Given the description of an element on the screen output the (x, y) to click on. 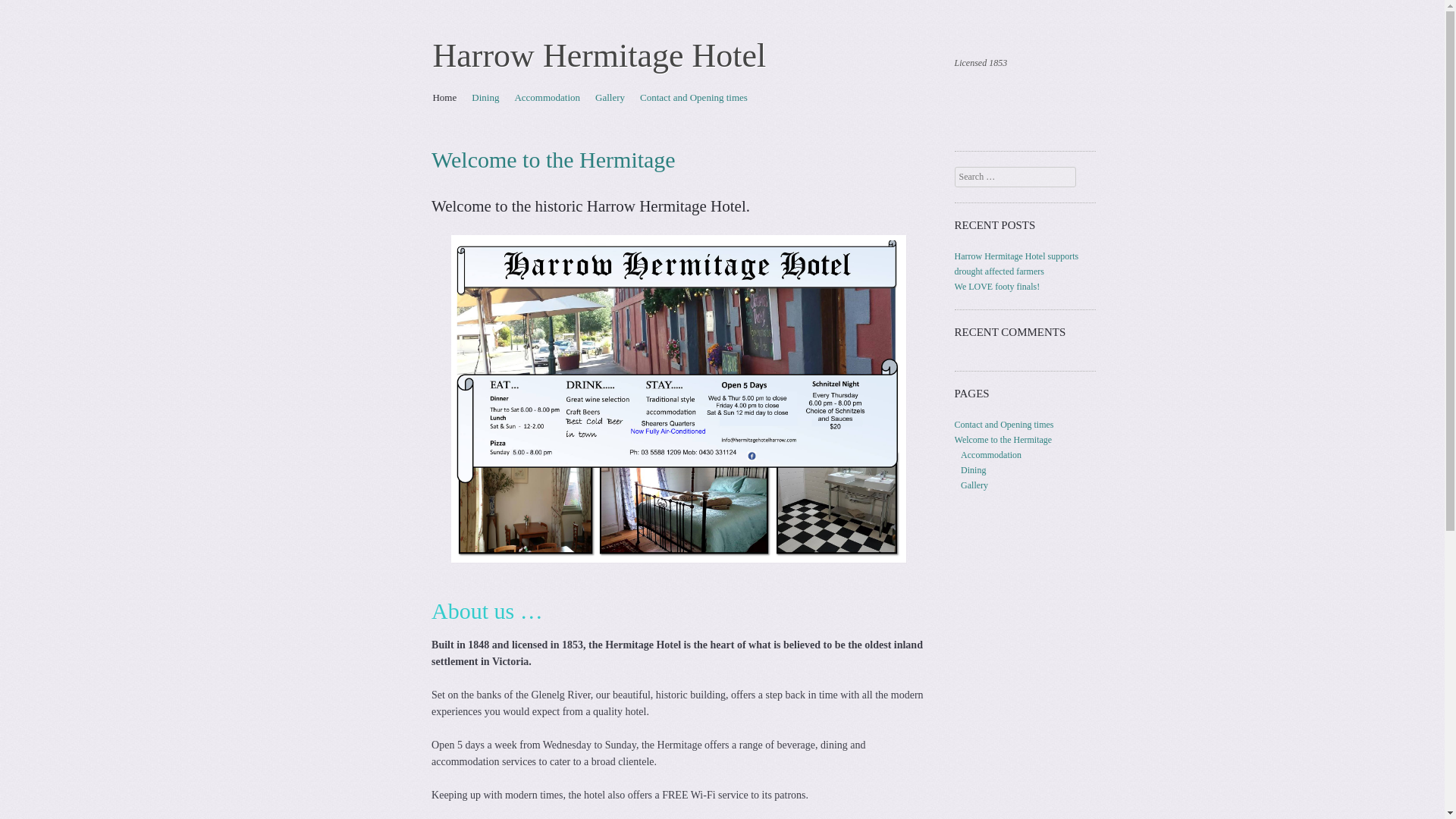
Skip to content (462, 97)
Gallery (609, 97)
Harrow Hermitage Hotel (598, 55)
Accommodation (991, 454)
We LOVE footy finals! (998, 286)
Skip to content (462, 97)
Home (444, 97)
Dining (972, 470)
Harrow Hermitage Hotel supports drought affected farmers (1016, 263)
Gallery (974, 484)
Search (32, 11)
Contact and Opening times (1004, 424)
Welcome to the Hermitage (1003, 439)
Dining (485, 97)
Harrow Hermitage Hotel (598, 55)
